Given the description of an element on the screen output the (x, y) to click on. 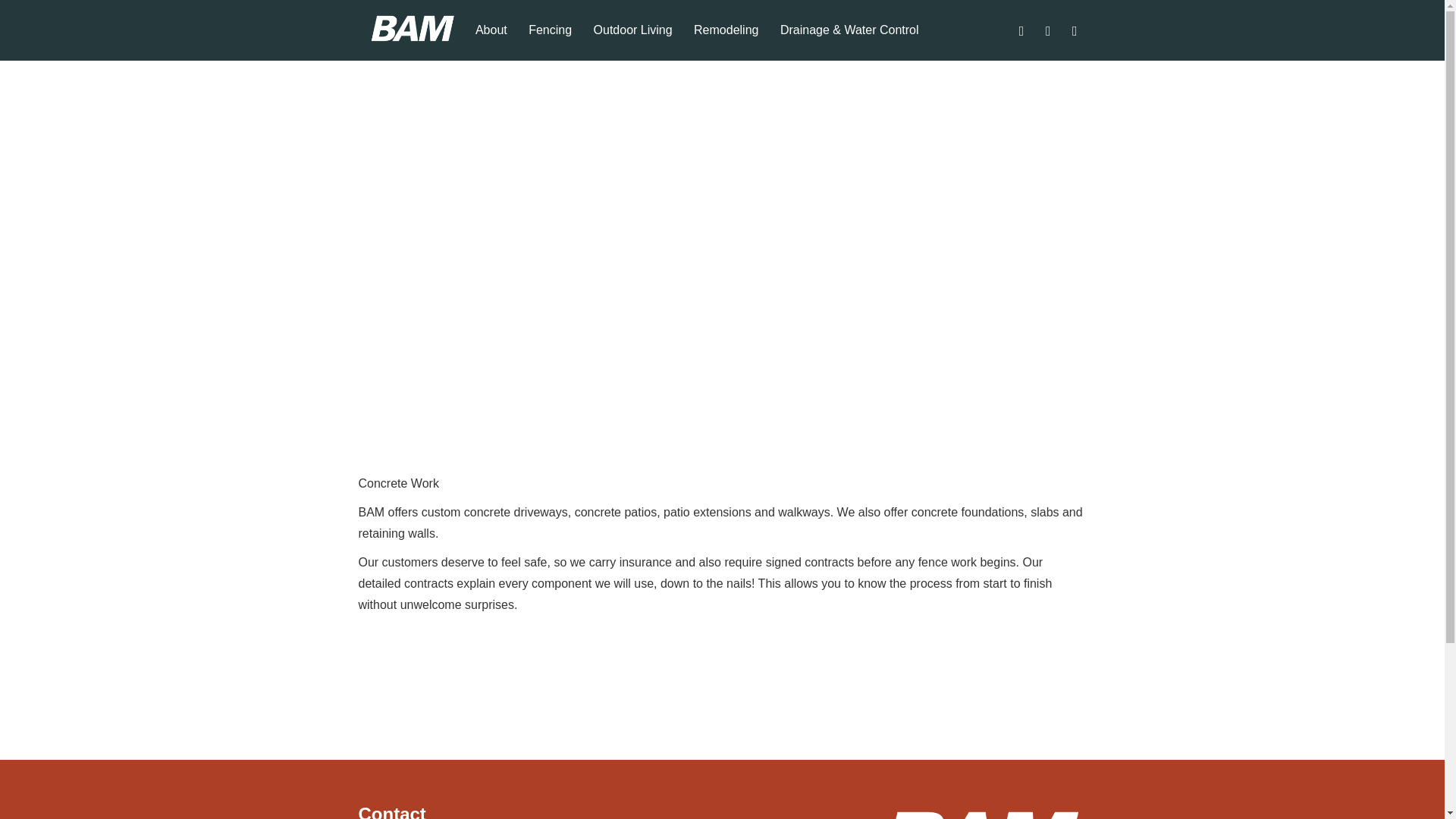
About (490, 42)
Remodeling (725, 42)
Outdoor Living (633, 42)
Fencing (549, 42)
